Given the description of an element on the screen output the (x, y) to click on. 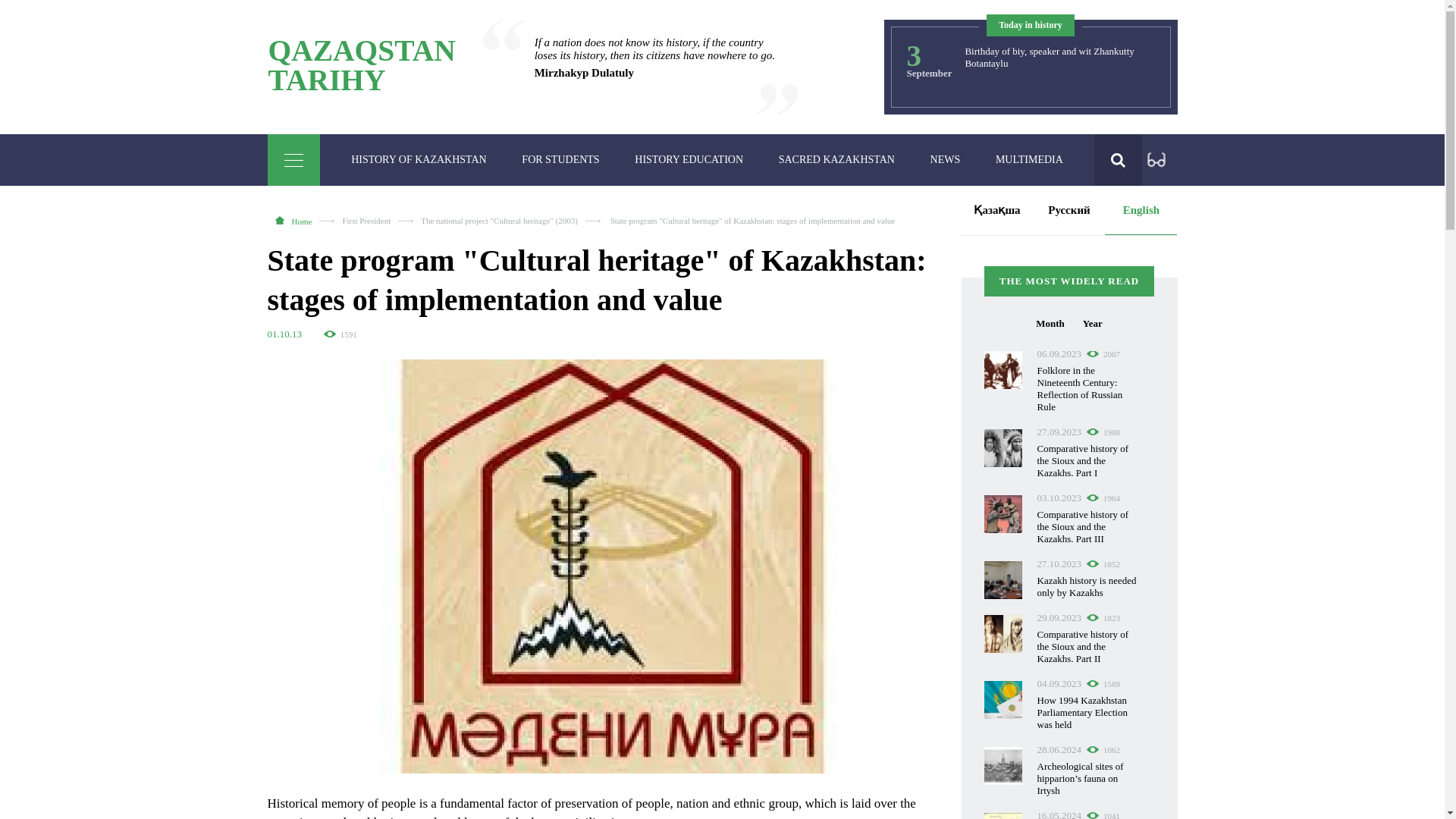
FOR STUDENTS (560, 159)
SACRED KAZAKHSTAN (836, 159)
HISTORY OF KAZAKHSTAN (361, 65)
HISTORY EDUCATION (418, 159)
MULTIMEDIA (688, 159)
Birthday of biy, speaker and wit Zhankutty Botantaylu (1029, 159)
